Given the description of an element on the screen output the (x, y) to click on. 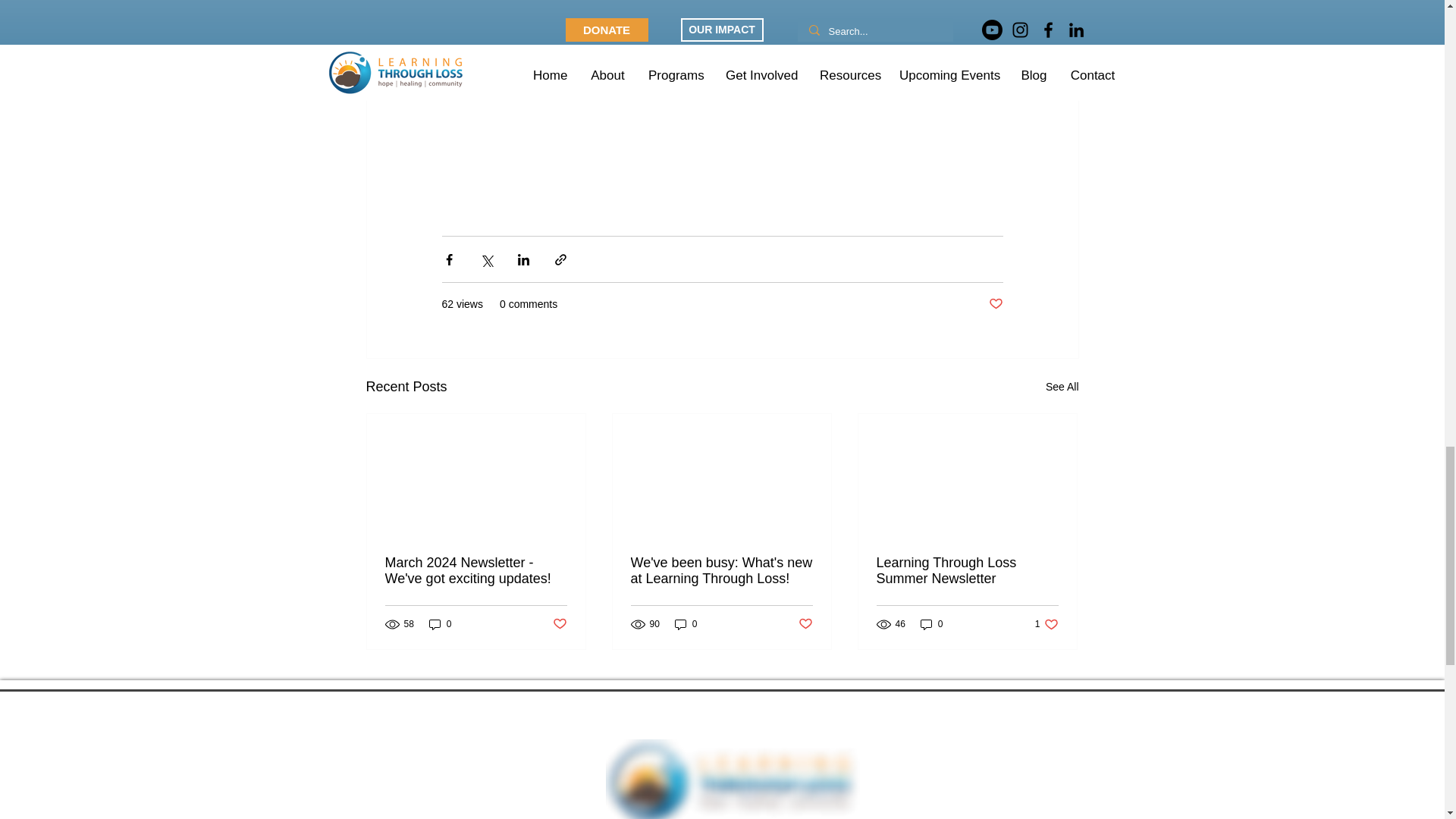
Instagram (723, 7)
Learning Through Loss - Logo (732, 779)
LinkedIn (787, 7)
Facebook  (657, 7)
